Given the description of an element on the screen output the (x, y) to click on. 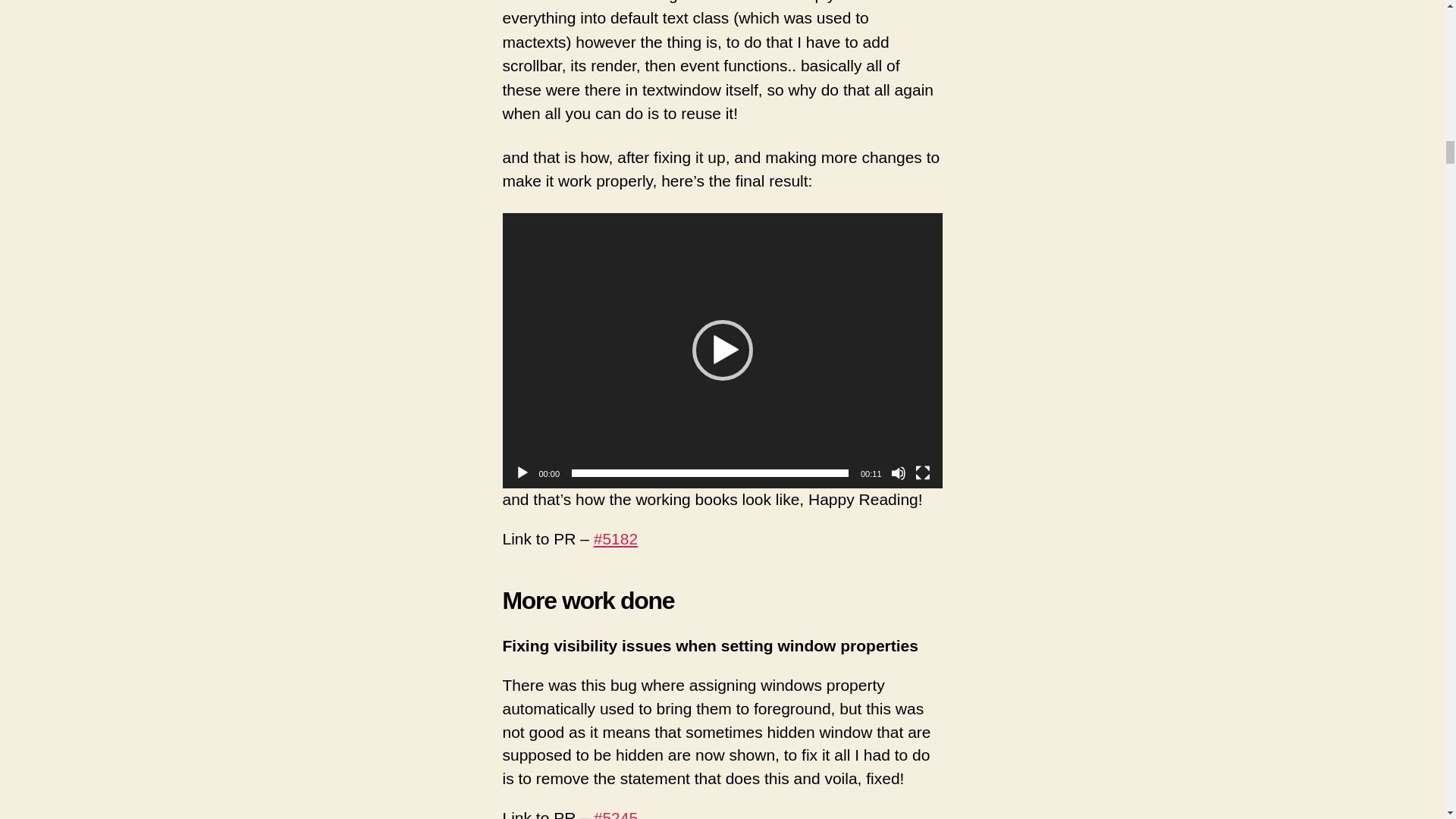
Mute (897, 473)
Fullscreen (922, 473)
Play (521, 473)
